Given the description of an element on the screen output the (x, y) to click on. 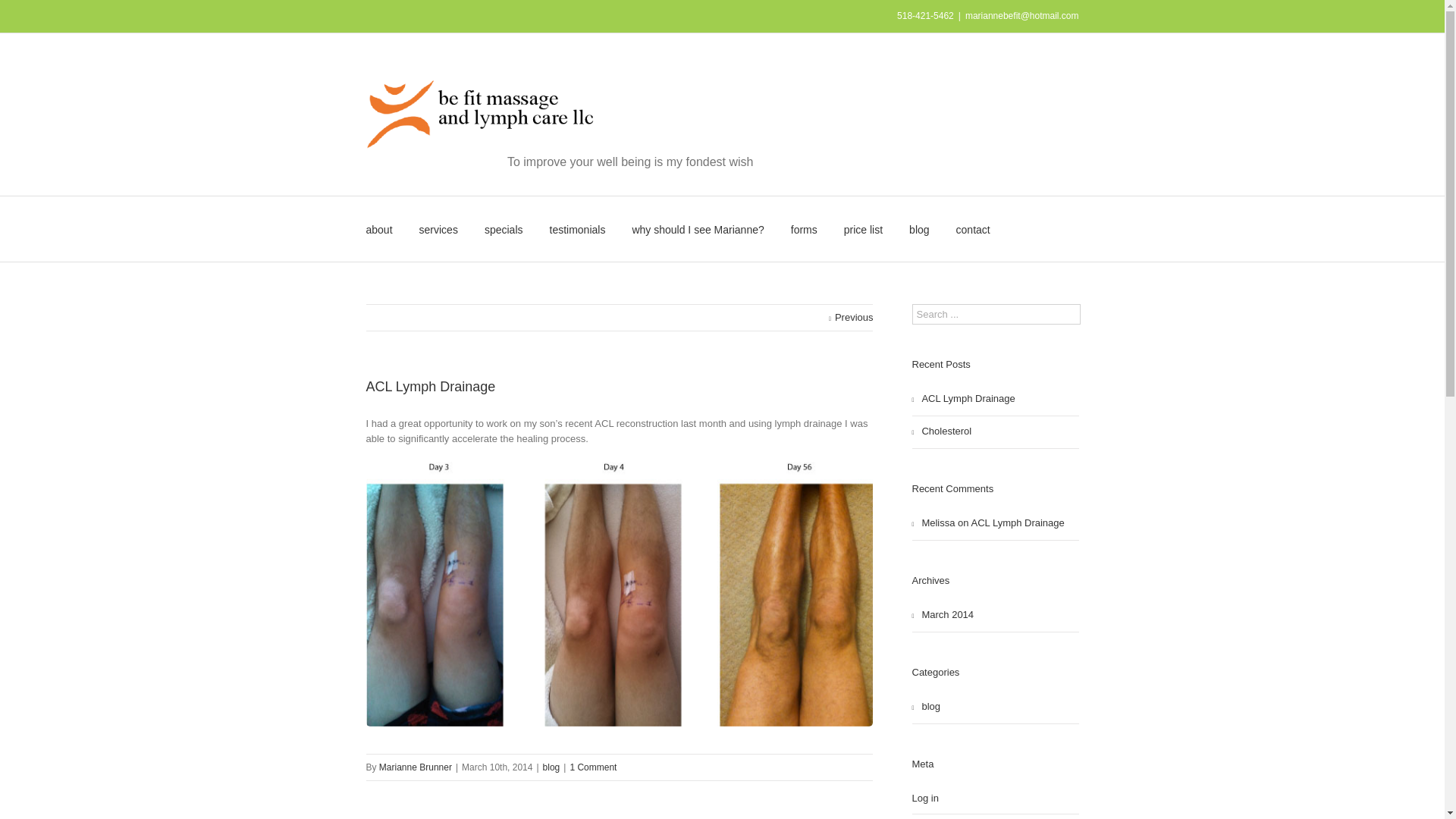
1 Comment (592, 767)
Previous (850, 317)
services (438, 228)
Posts by Marianne Brunner (414, 767)
price list (863, 228)
contact (973, 228)
Marianne Brunner (414, 767)
specials (503, 228)
ACL Lymph Drainage (430, 386)
blog (551, 767)
forms (803, 228)
testimonials (576, 228)
why should I see Marianne? (696, 228)
about (378, 228)
blog (918, 228)
